Given the description of an element on the screen output the (x, y) to click on. 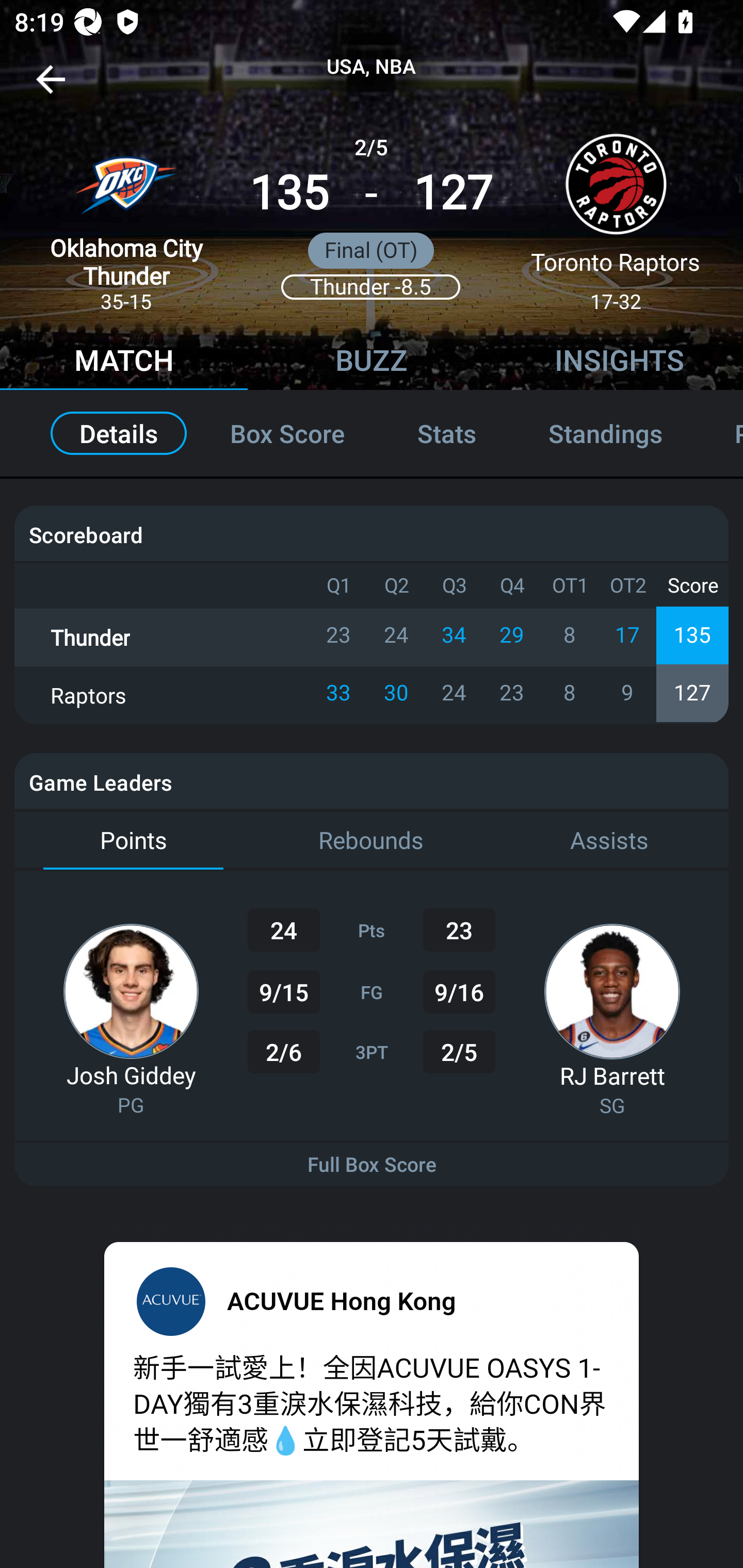
Navigate up (50, 86)
USA, NBA (371, 66)
Oklahoma City Thunder 35-15 (126, 214)
Toronto Raptors 17-32 (616, 214)
135 (288, 192)
127 (453, 192)
MATCH (123, 362)
BUZZ (371, 362)
INSIGHTS (619, 362)
Box Score (287, 433)
Stats (446, 433)
Standings (605, 433)
Rebounds (371, 841)
Assists (609, 841)
Josh Giddey (131, 1074)
RJ Barrett (611, 1075)
ACUVUE Hong Kong (341, 1300)
